Given the description of an element on the screen output the (x, y) to click on. 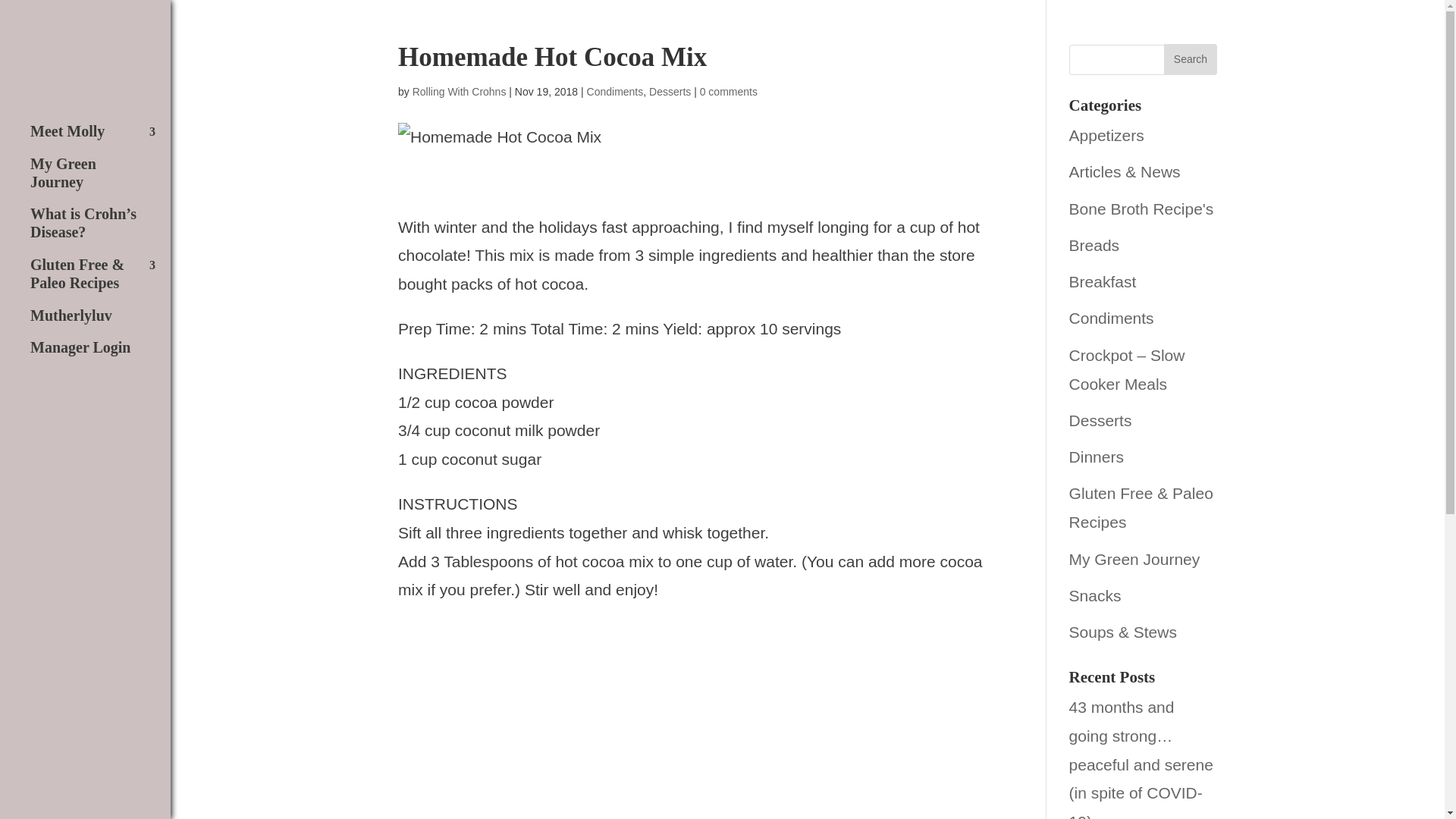
Desserts (669, 91)
My Green Journey (100, 180)
Condiments (614, 91)
Condiments (1111, 317)
Breakfast (1102, 281)
Snacks (1094, 595)
Bone Broth Recipe's (1141, 208)
Mutherlyluv (100, 323)
Search (1190, 59)
Meet Molly (100, 138)
